Given the description of an element on the screen output the (x, y) to click on. 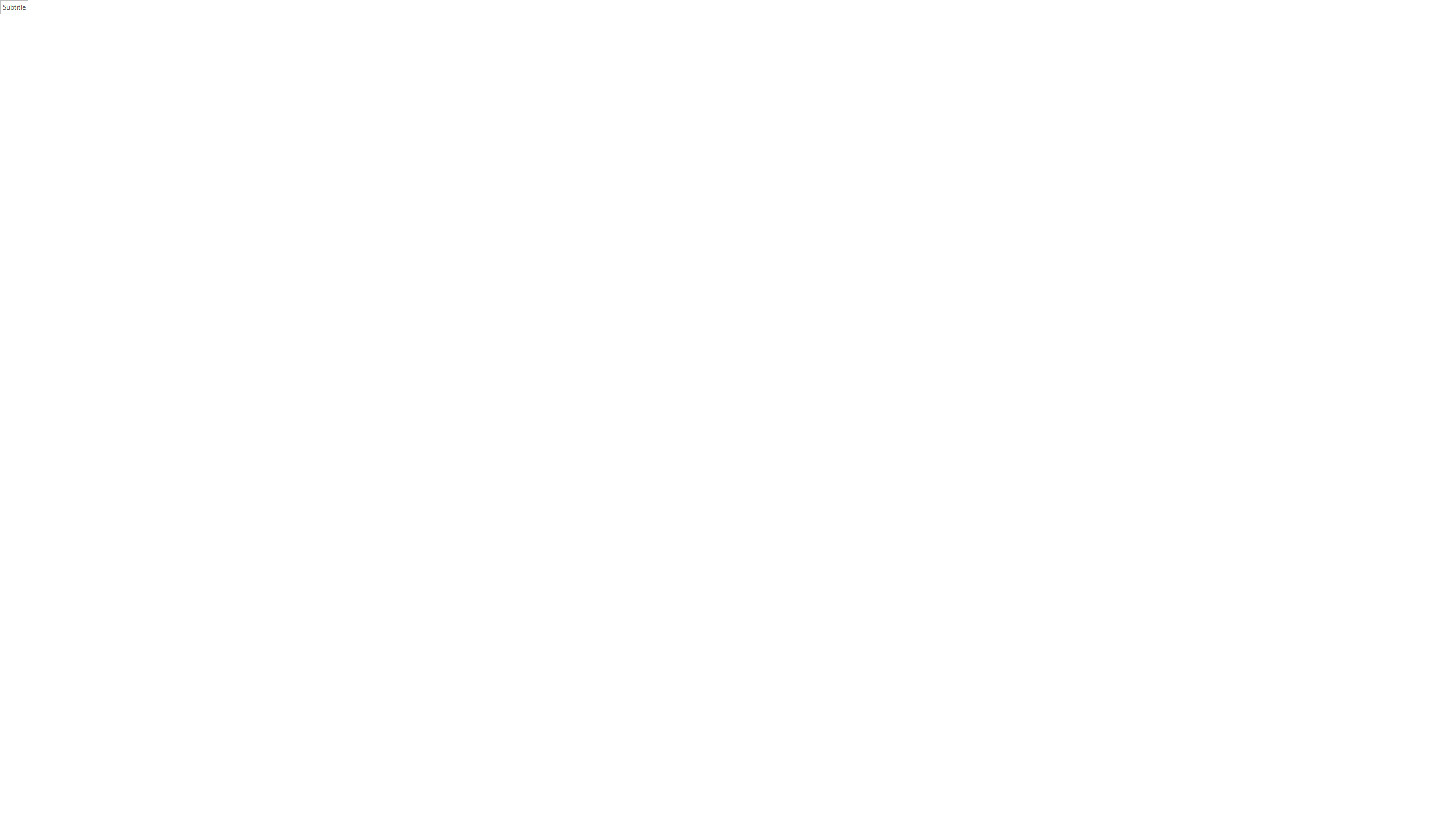
Heading 1 (564, 56)
Office Clipboard... (88, 85)
Intense Emphasis (809, 56)
Title (646, 56)
Text Highlight Color Yellow (220, 67)
Mode (1372, 27)
Strong (849, 56)
